Given the description of an element on the screen output the (x, y) to click on. 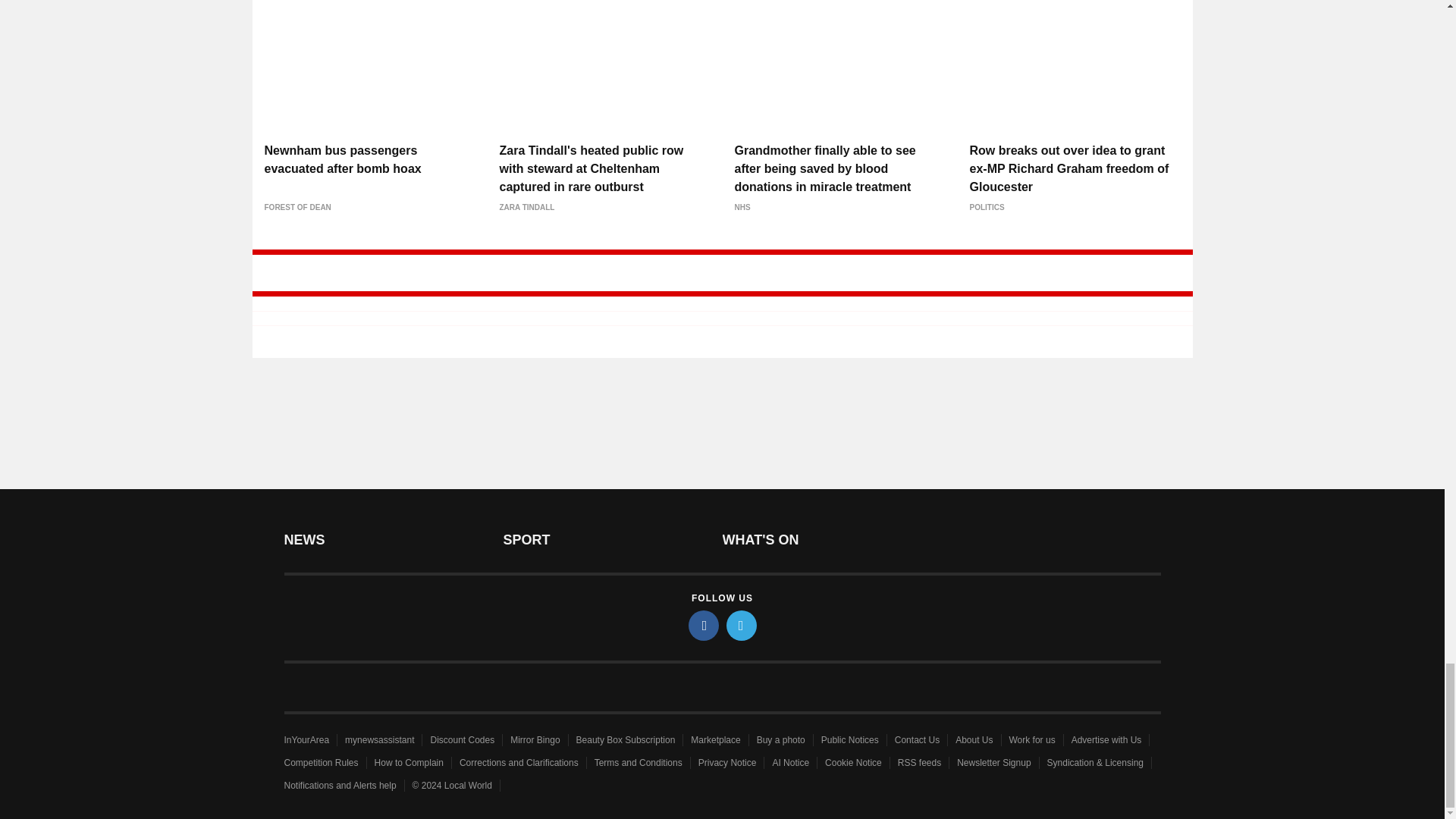
facebook (703, 625)
twitter (741, 625)
